Given the description of an element on the screen output the (x, y) to click on. 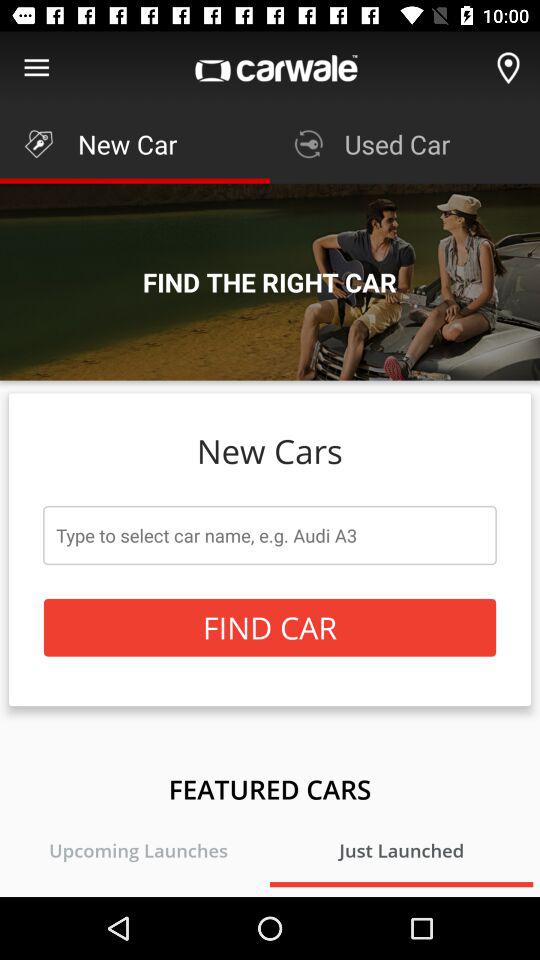
choose the item above the find car icon (269, 535)
